Given the description of an element on the screen output the (x, y) to click on. 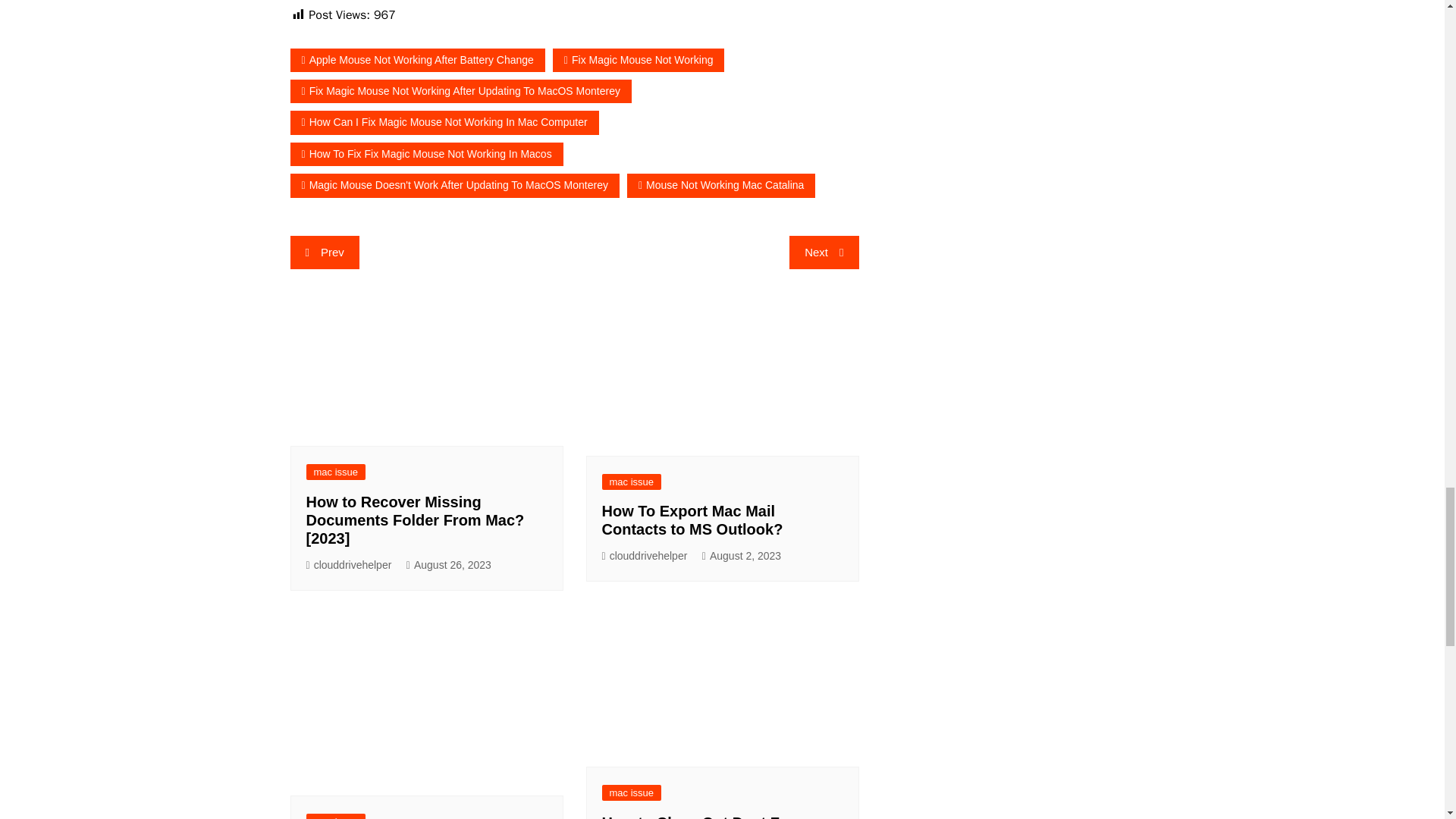
How To Export Mac Mail Contacts to MS Outlook? (692, 519)
How Can I Fix Magic Mouse Not Working In Mac Computer (443, 122)
August 26, 2023 (449, 565)
Magic Mouse Doesn'T Work After Updating To MacOS Monterey (453, 185)
mac issue (632, 481)
Prev (323, 252)
Apple Mouse Not Working After Battery Change (416, 60)
Fix Magic Mouse Not Working After Updating To MacOS Monterey (459, 91)
clouddrivehelper (644, 556)
How To Fix Fix Magic Mouse Not Working In Macos (425, 154)
